Given the description of an element on the screen output the (x, y) to click on. 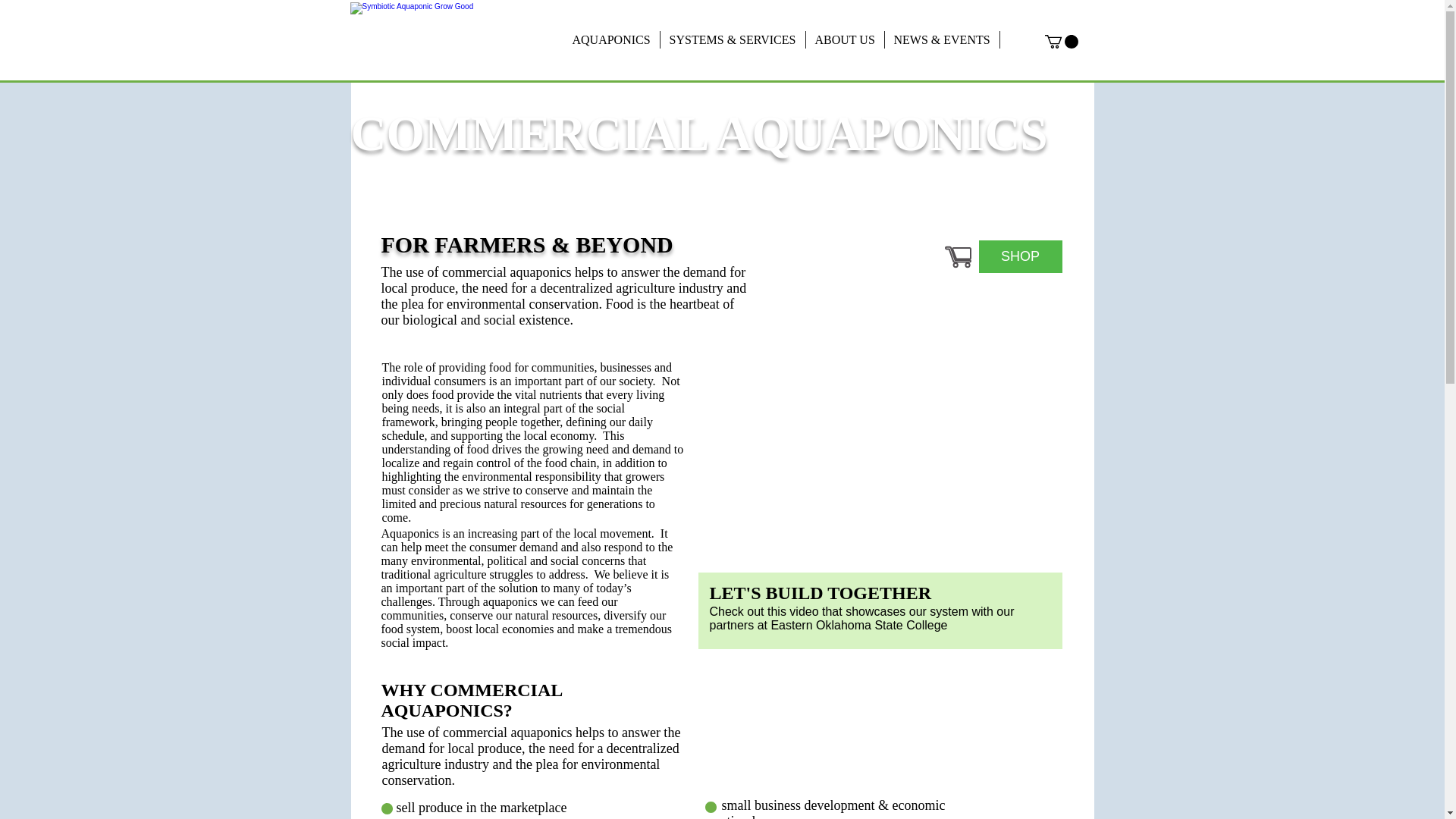
SHOP (1019, 256)
ABOUT US (844, 39)
External YouTube (879, 466)
AQUAPONICS (610, 39)
